Given the description of an element on the screen output the (x, y) to click on. 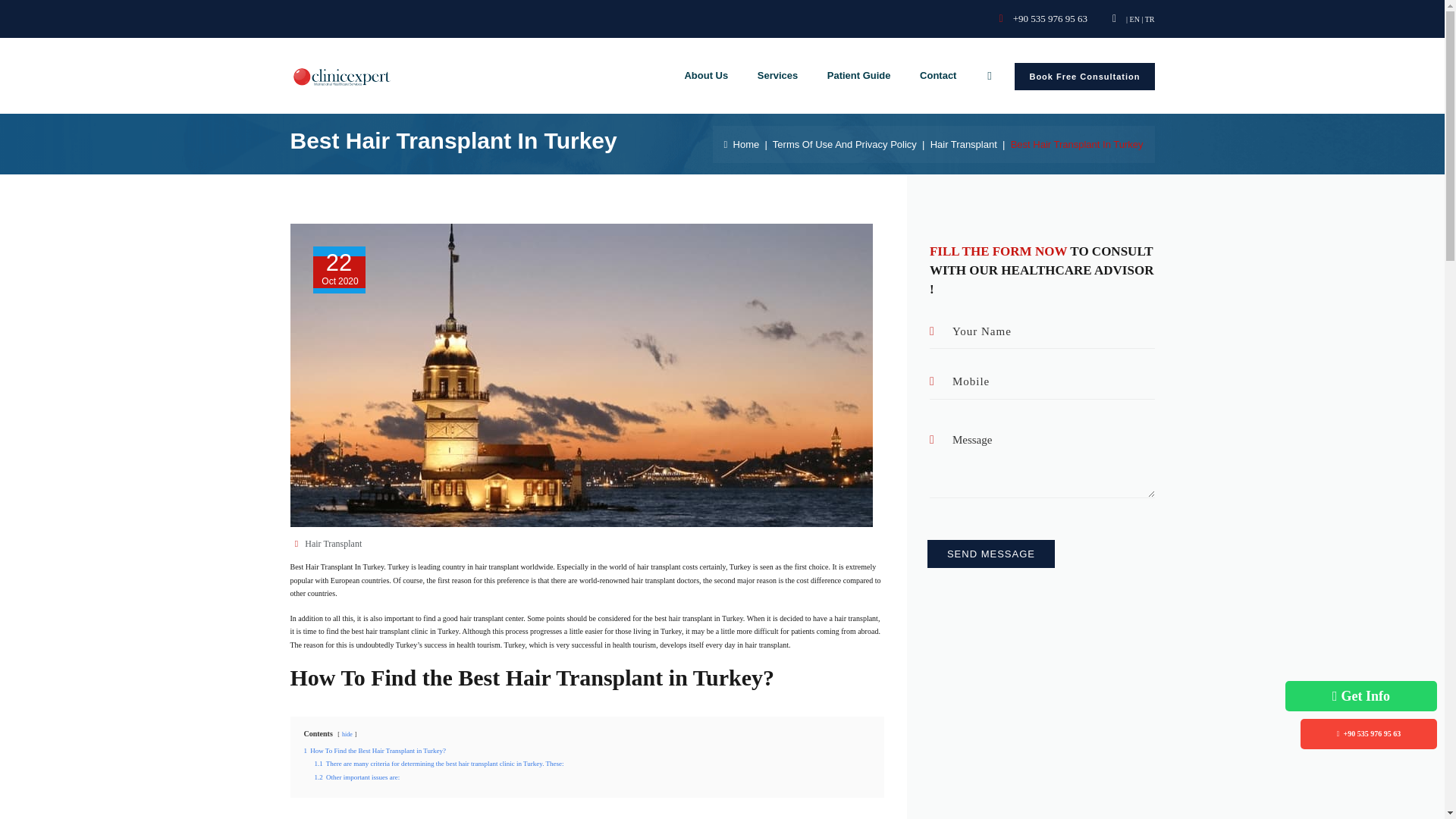
SEND MESSAGE (990, 553)
Book Free Consultation (1084, 76)
Services (778, 75)
ClinicExpert (341, 75)
Go to ClinicExpert. (741, 143)
Go to the Hair Transplant category archives. (963, 143)
TR (1149, 19)
Go to Terms of Use and Privacy Policy. (845, 143)
About Us (705, 75)
EN (1134, 19)
